Given the description of an element on the screen output the (x, y) to click on. 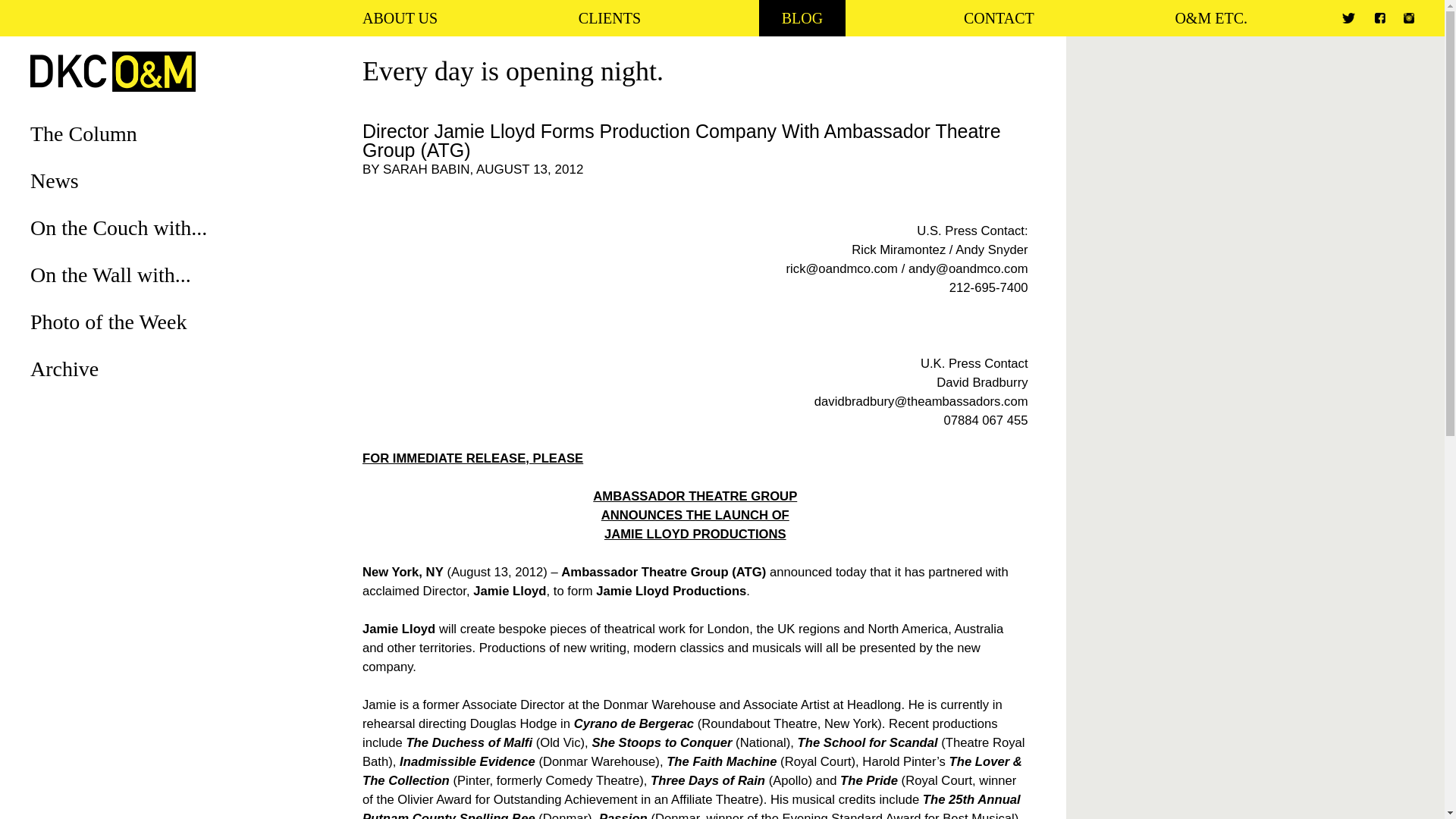
ABOUT US (399, 18)
Twitter (1348, 18)
Facebook (1380, 17)
On the Couch with... (118, 227)
BLOG (801, 18)
On the Wall with... (110, 274)
News (54, 180)
CLIENTS (609, 18)
Instagram (1408, 18)
The Column (83, 133)
